Given the description of an element on the screen output the (x, y) to click on. 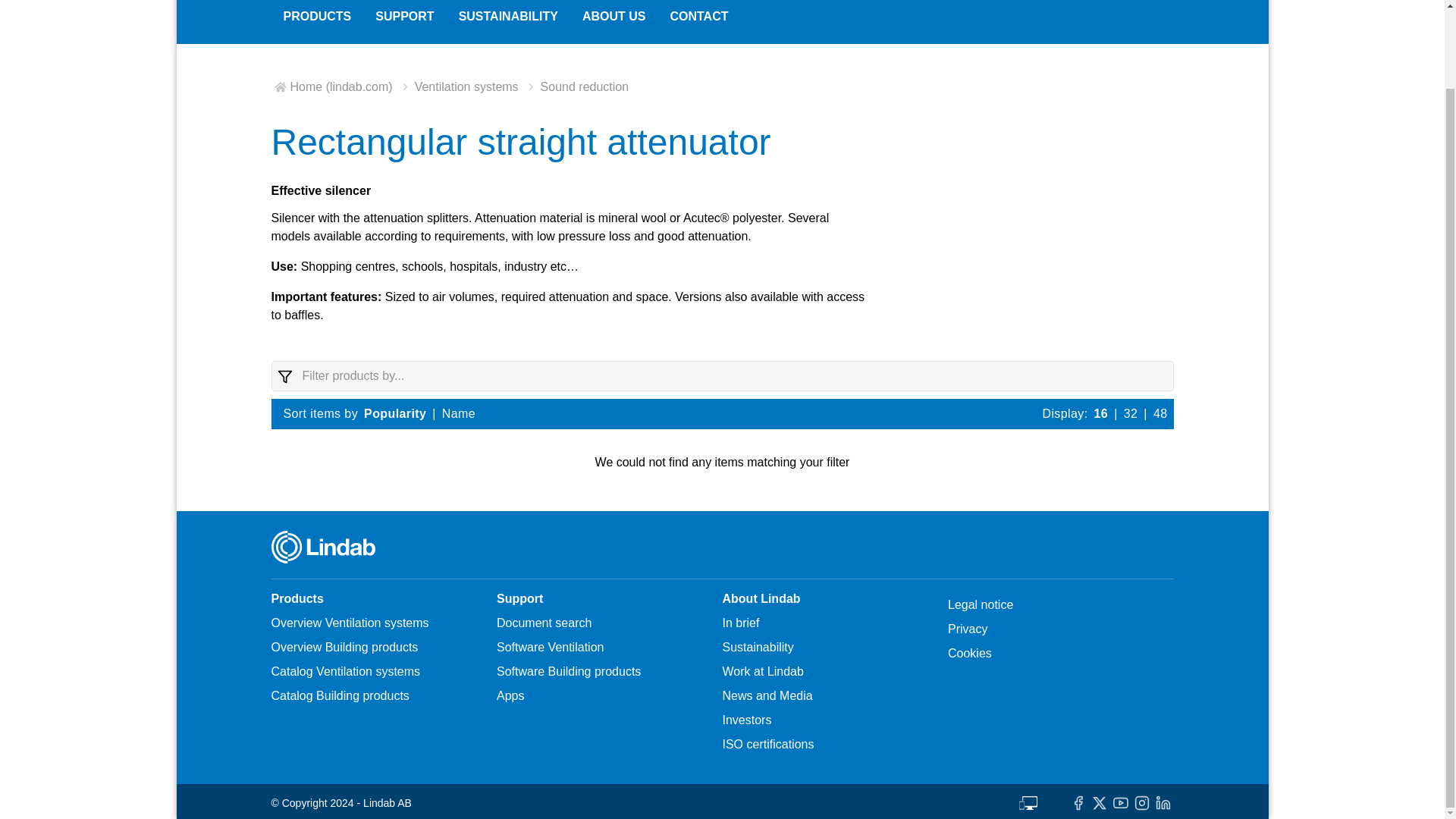
Switch to mobile mode (1027, 801)
